Given the description of an element on the screen output the (x, y) to click on. 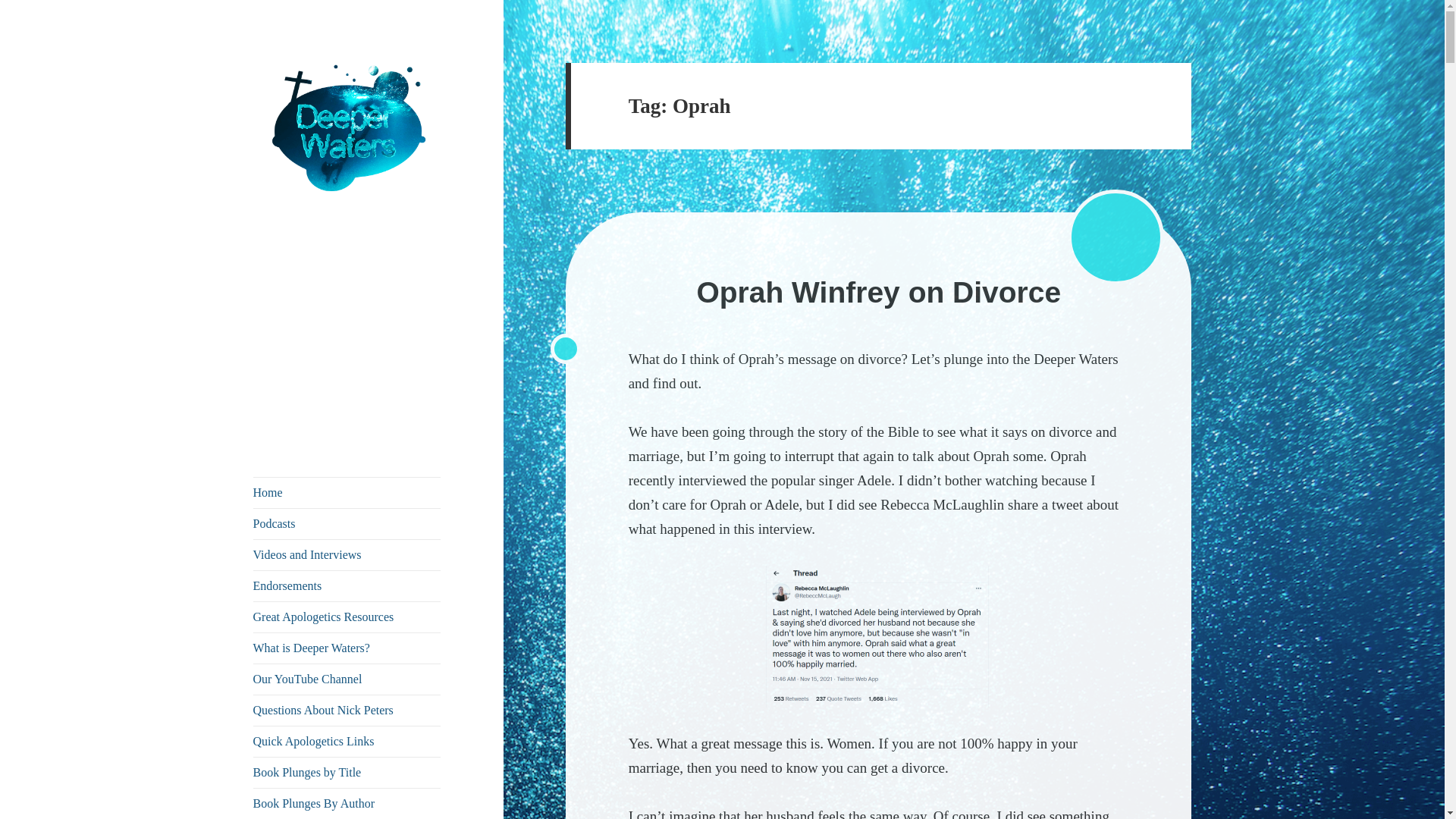
Questions About Nick Peters (347, 710)
Book Plunges By Author (347, 803)
Book Plunges by Title (347, 772)
Our YouTube Channel (347, 679)
Endorsements (347, 585)
What is Deeper Waters? (347, 648)
Quick Apologetics Links (347, 741)
Great Apologetics Resources (347, 616)
Podcasts (347, 523)
Videos and Interviews (347, 554)
Home (347, 492)
